Given the description of an element on the screen output the (x, y) to click on. 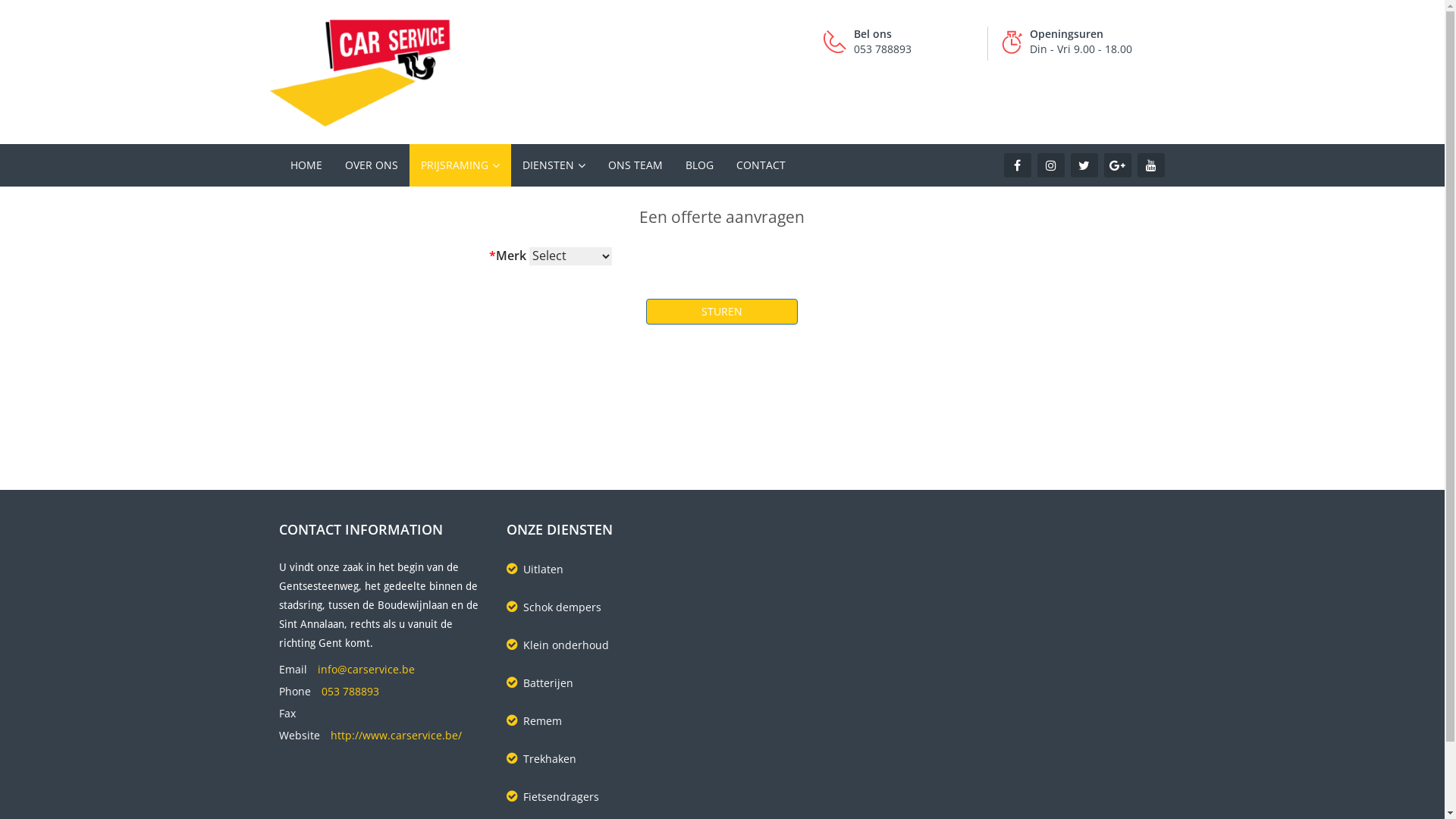
http://www.carservice.be/ Element type: text (395, 738)
Trekhaken Element type: text (608, 762)
DIENSTEN Element type: text (553, 165)
PRIJSRAMING Element type: text (460, 165)
Remem Element type: text (608, 724)
053 788893 Element type: text (350, 695)
Batterijen Element type: text (608, 686)
info@carservice.be Element type: text (365, 673)
Schok dempers Element type: text (608, 611)
STUREN Element type: text (721, 311)
BLOG Element type: text (698, 165)
Fietsendragers Element type: text (608, 800)
OVER ONS Element type: text (371, 165)
Klein onderhoud Element type: text (608, 648)
CONTACT Element type: text (760, 165)
ONS TEAM Element type: text (634, 165)
Uitlaten Element type: text (608, 573)
HOME Element type: text (306, 165)
